Given the description of an element on the screen output the (x, y) to click on. 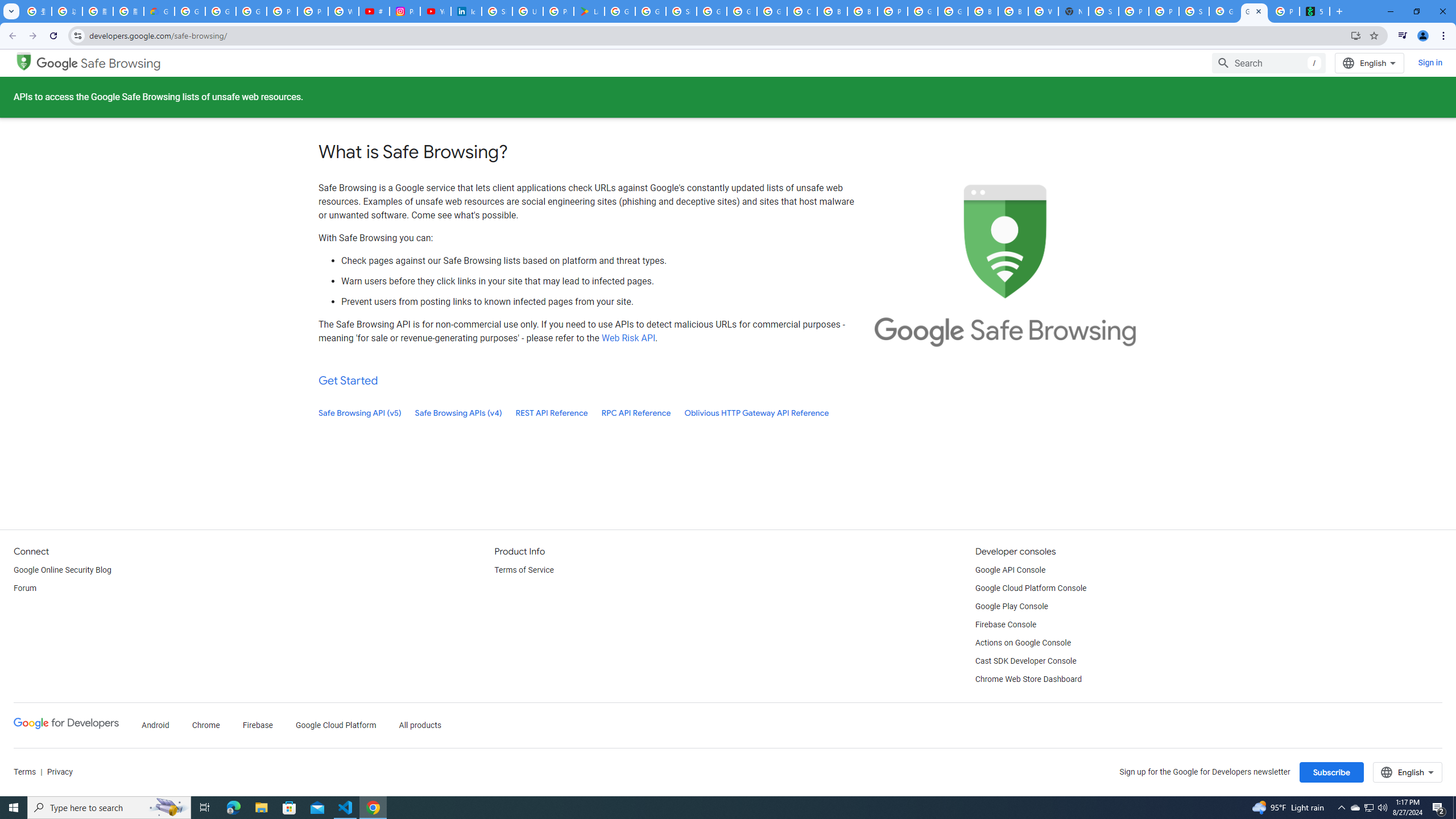
Chrome Web Store Dashboard (1028, 679)
Cast SDK Developer Console (1025, 661)
Install Google Developers (1355, 35)
Forum (24, 588)
Sign in (1430, 63)
